Given the description of an element on the screen output the (x, y) to click on. 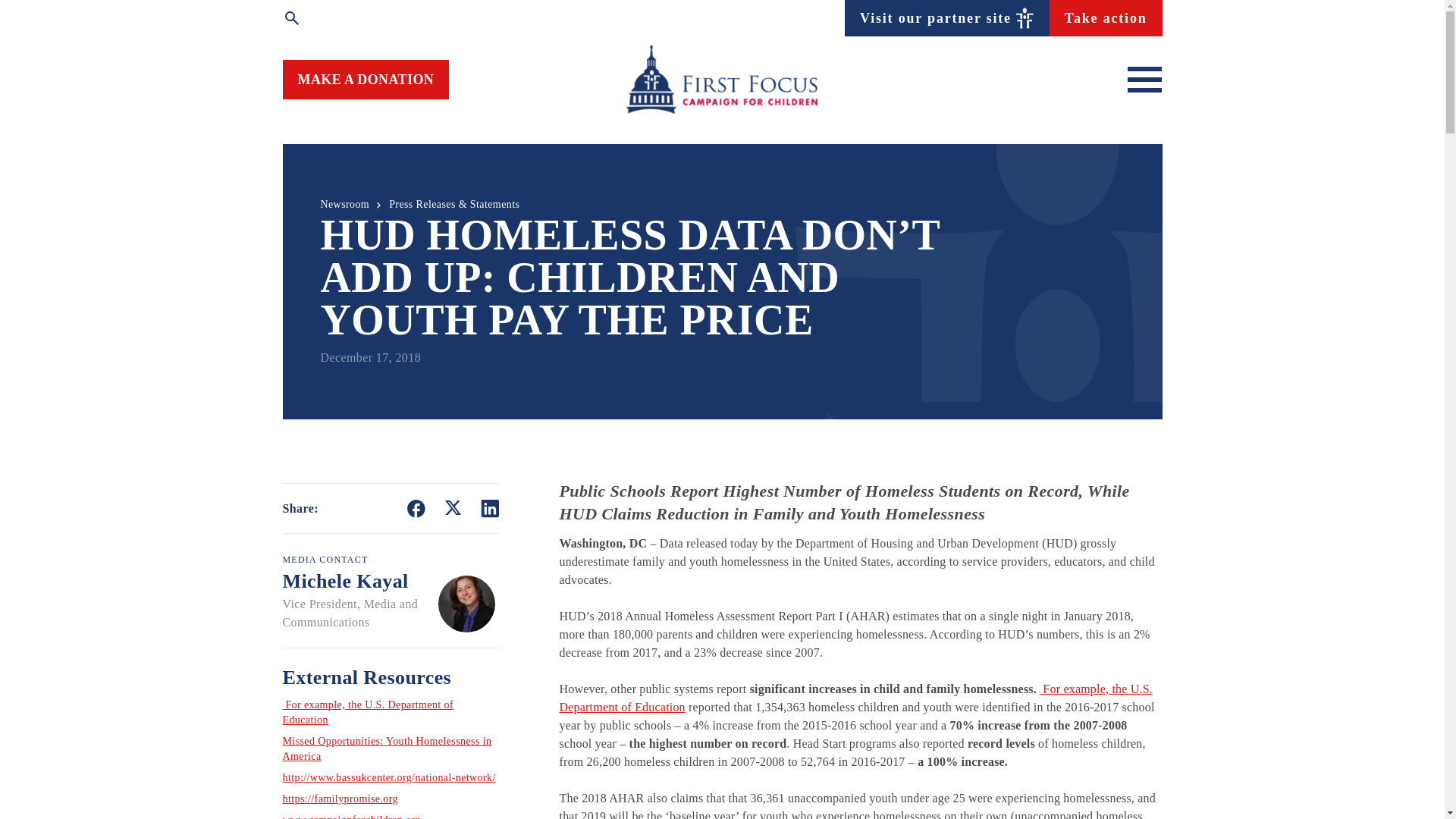
Visit our partner site (946, 17)
MAKE A DONATION (365, 79)
Take action (1105, 17)
